Given the description of an element on the screen output the (x, y) to click on. 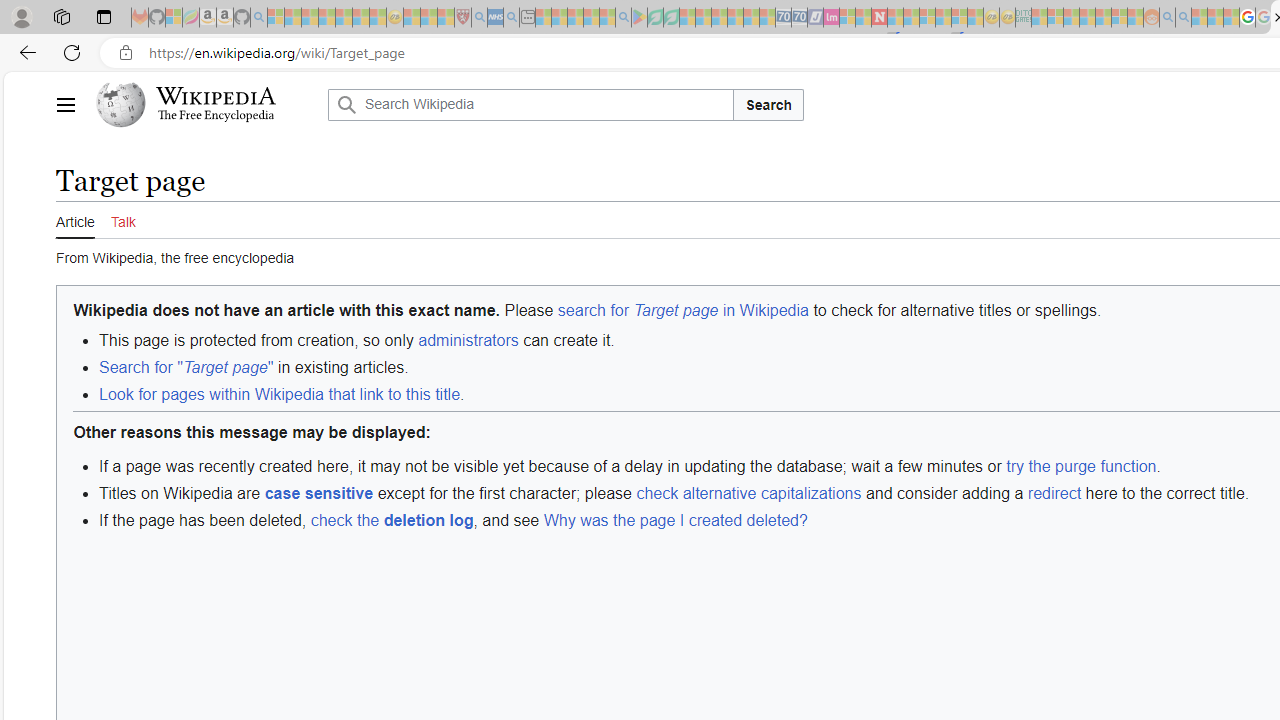
Expert Portfolios - Sleeping (1087, 17)
search for Target page in Wikipedia (682, 309)
MSNBC - MSN - Sleeping (1039, 17)
DITOGAMES AG Imprint - Sleeping (1023, 17)
Search Wikipedia (530, 104)
Article (75, 219)
case sensitive (318, 492)
